Given the description of an element on the screen output the (x, y) to click on. 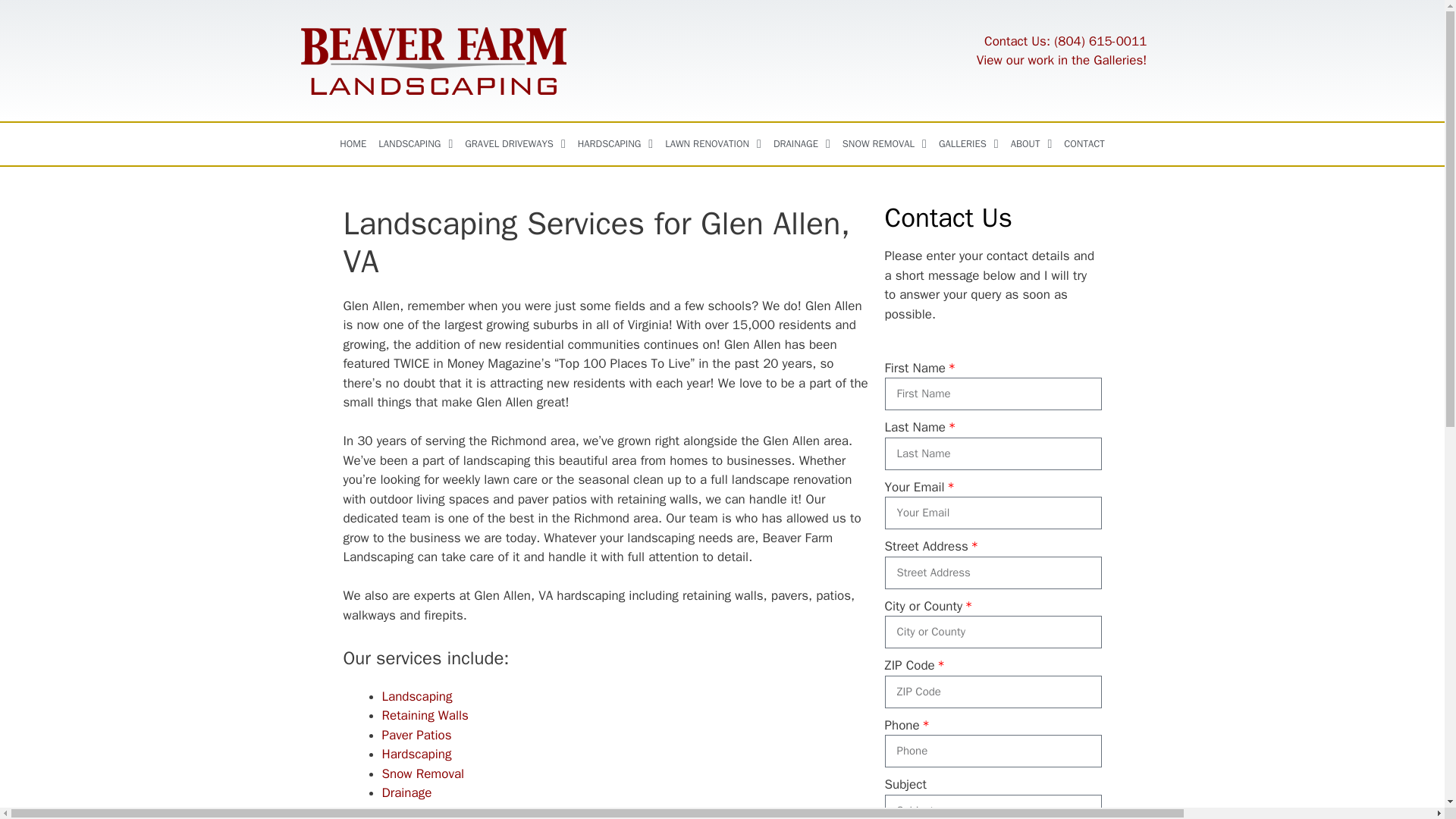
LANDSCAPING (415, 143)
GRAVEL DRIVEWAYS (514, 143)
Glen Allen Paver Patios (416, 734)
DRAINAGE (801, 143)
Glen Allen Hardscaping (416, 754)
Glen Allen Snow Removal (422, 773)
Glen Allen Retaining Walls (424, 715)
HOME (352, 143)
Glen Allen Landscaping (416, 696)
LAWN RENOVATION (713, 143)
